Given the description of an element on the screen output the (x, y) to click on. 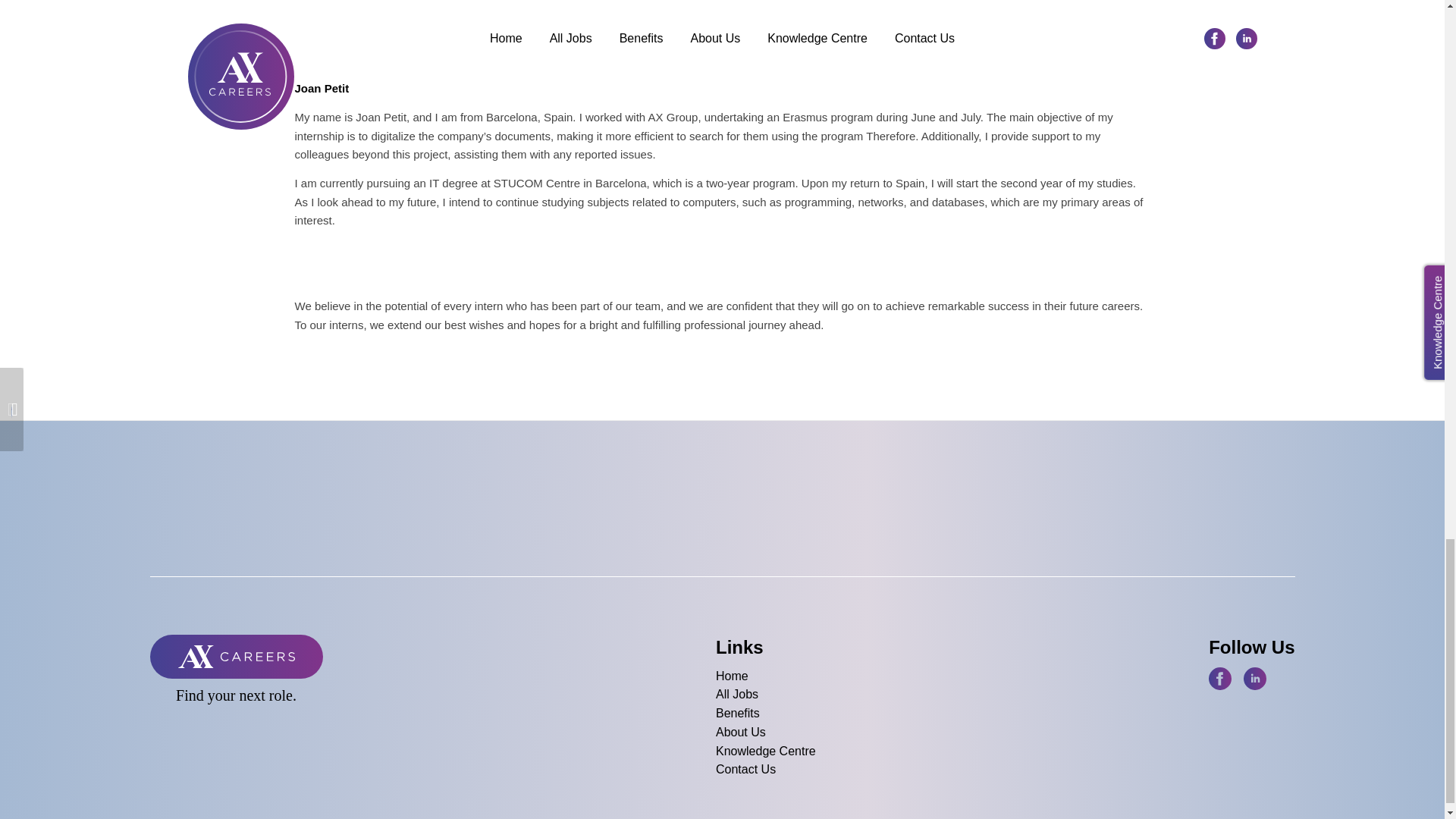
Home (765, 676)
All Jobs (765, 694)
